Given the description of an element on the screen output the (x, y) to click on. 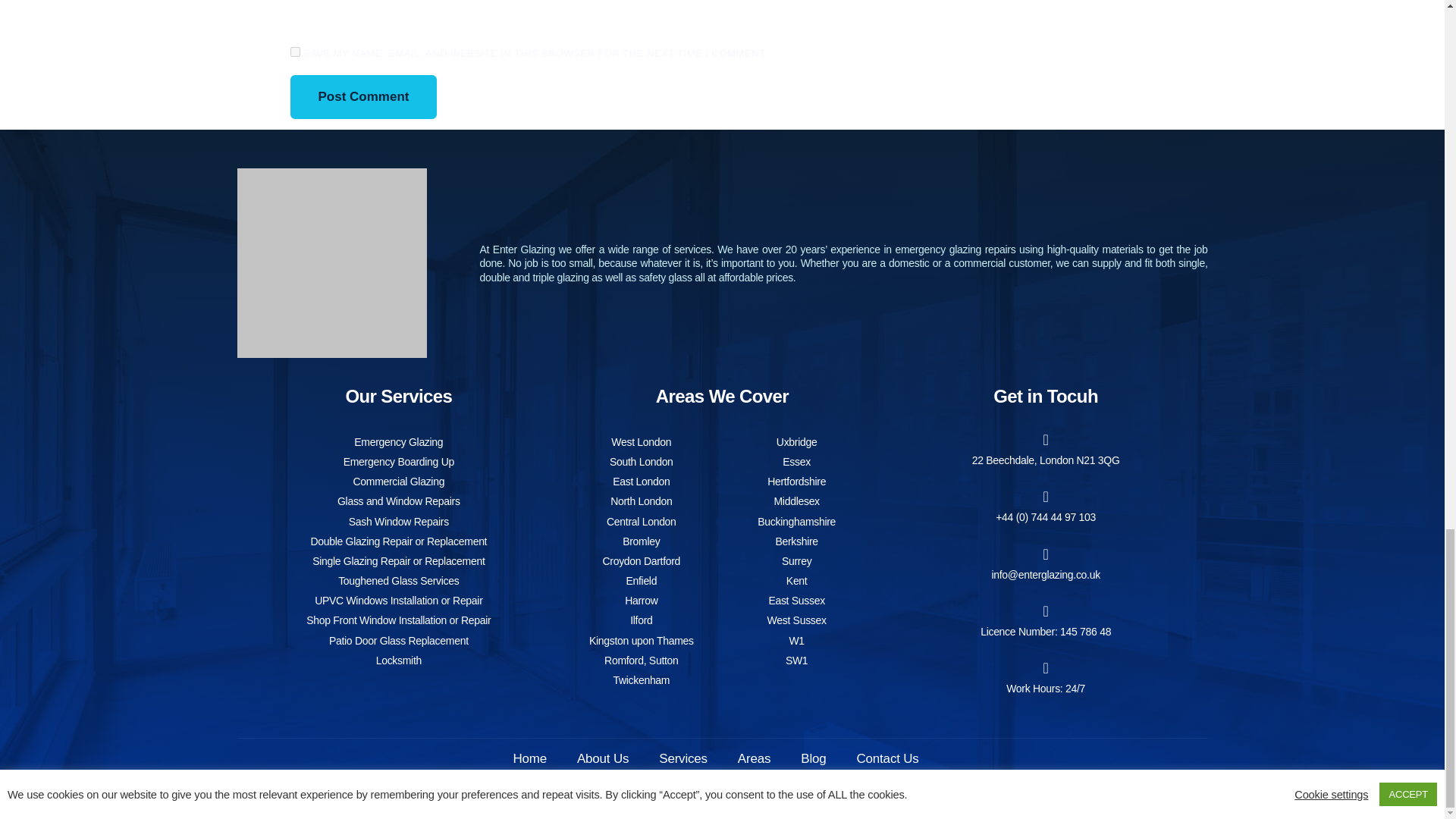
Post Comment (362, 96)
yes (294, 51)
